Given the description of an element on the screen output the (x, y) to click on. 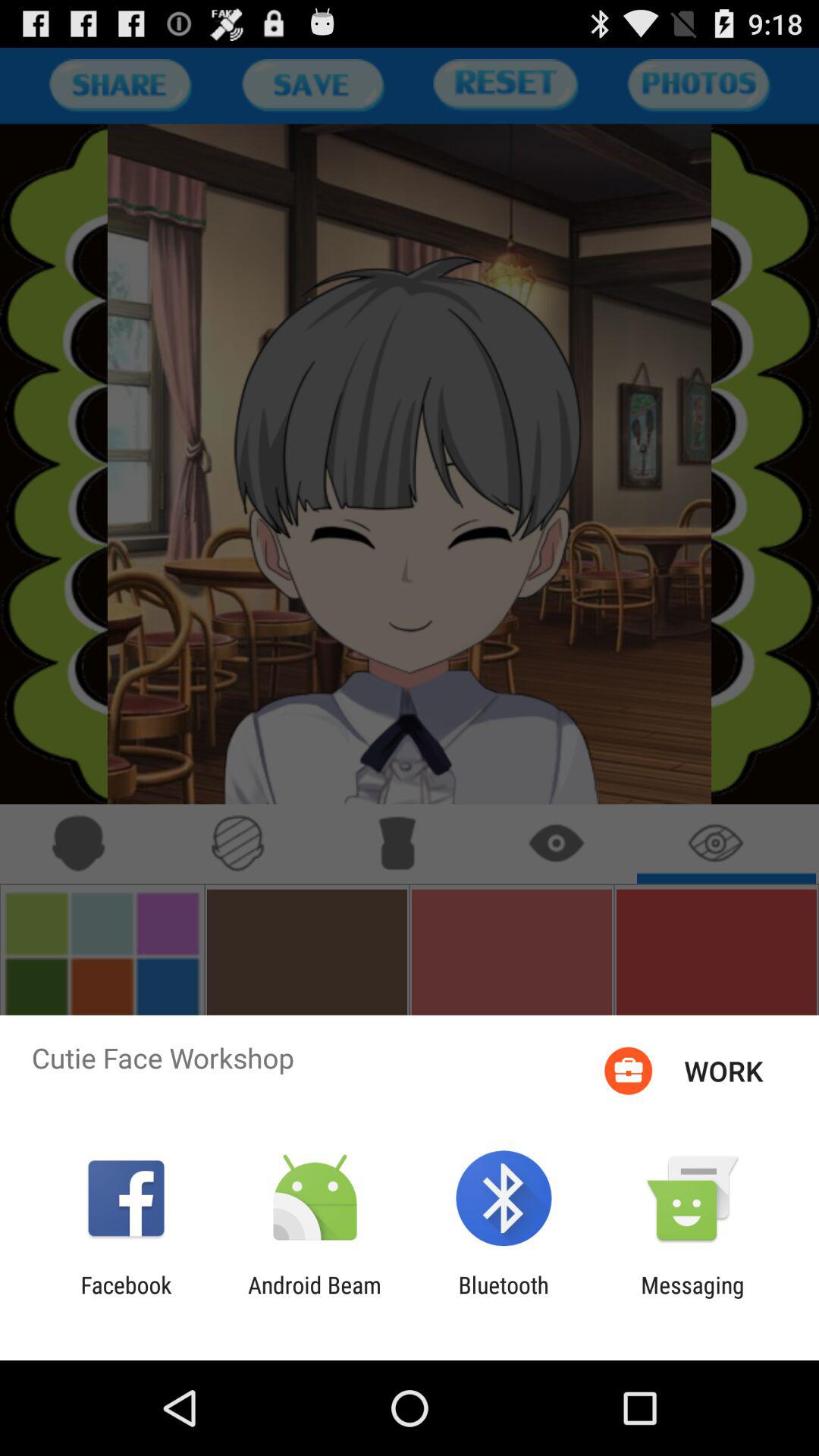
press the app to the right of bluetooth app (692, 1298)
